Given the description of an element on the screen output the (x, y) to click on. 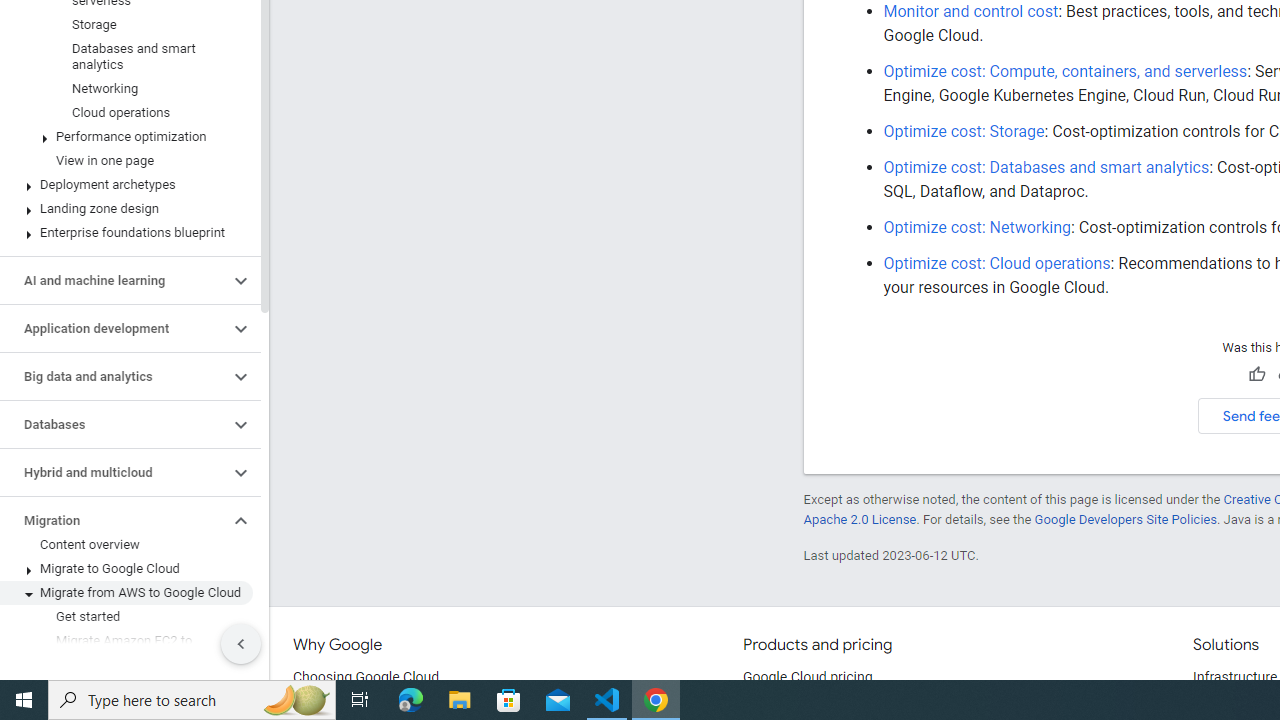
Hide side navigation (241, 643)
Application development (114, 328)
Optimize cost: Compute, containers, and serverless (1065, 70)
Google Developers Site Policies (1125, 519)
Migrate Amazon S3 to Cloud Storage (126, 688)
Optimize cost: Networking (977, 227)
Helpful (1256, 375)
Choosing Google Cloud (366, 677)
Storage (126, 24)
View in one page (126, 160)
AI and machine learning (114, 281)
Hybrid and multicloud (114, 472)
Performance optimization (126, 137)
Apache 2.0 License (859, 519)
Landing zone design (126, 209)
